Given the description of an element on the screen output the (x, y) to click on. 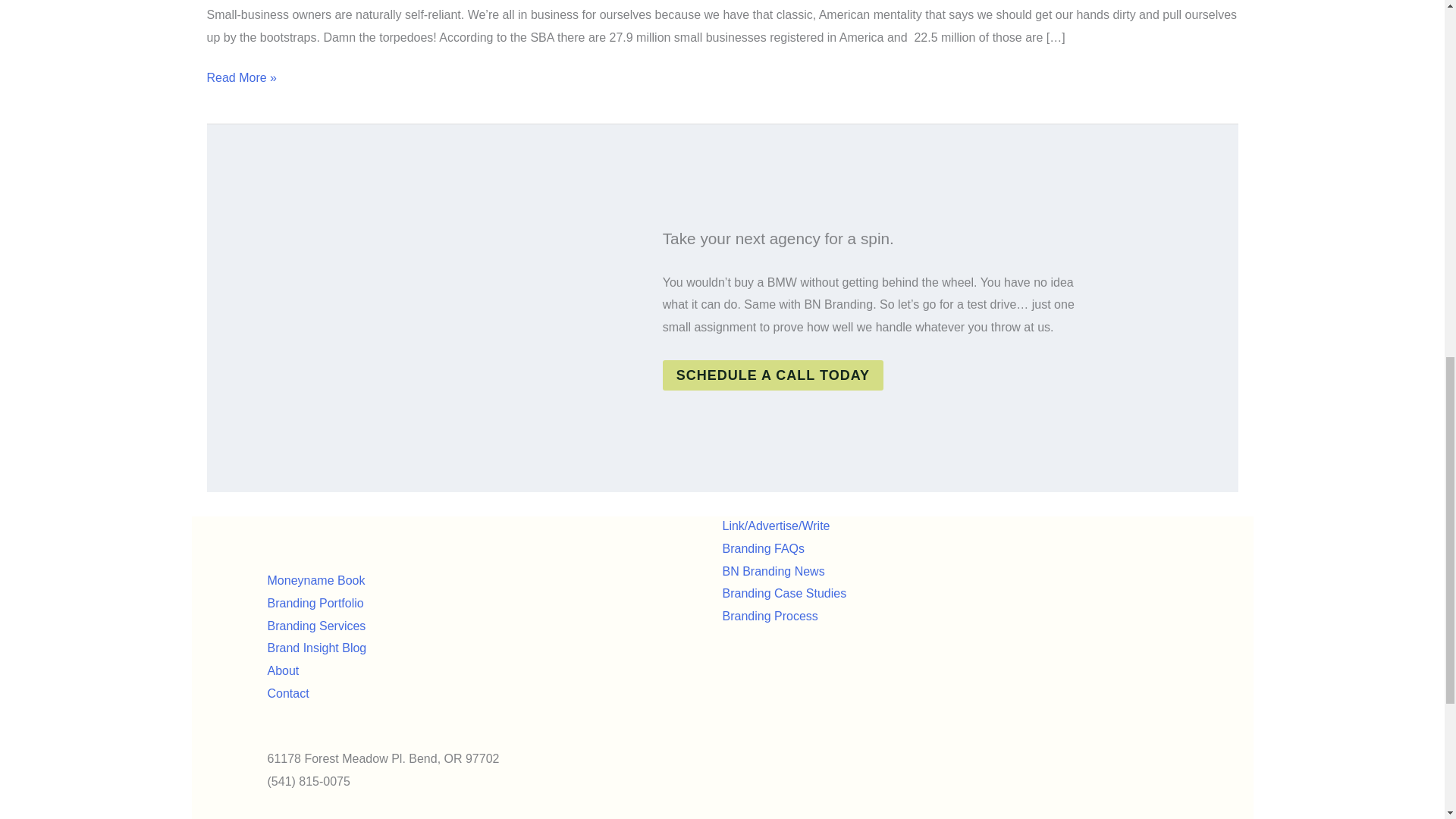
About (282, 670)
Branding Portfolio (314, 603)
SCHEDULE A CALL TODAY (772, 375)
Branding Services (315, 625)
Brand Insight Blog (316, 647)
Moneyname Book (315, 580)
